Given the description of an element on the screen output the (x, y) to click on. 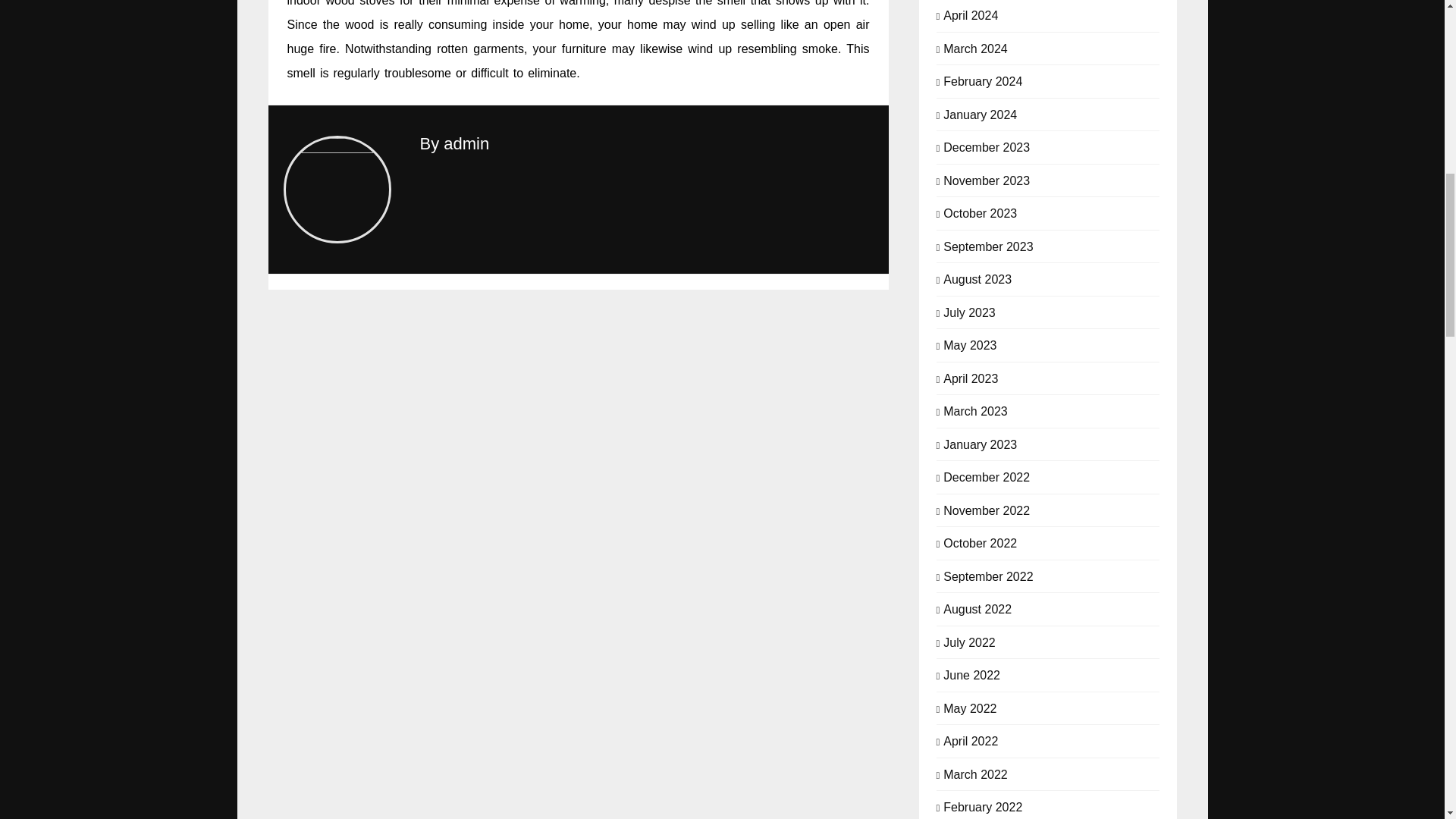
July 2022 (969, 641)
December 2023 (986, 145)
April 2022 (970, 739)
May 2023 (969, 344)
September 2023 (987, 245)
July 2023 (969, 310)
October 2023 (979, 212)
February 2022 (982, 806)
June 2022 (971, 673)
October 2022 (979, 541)
